Given the description of an element on the screen output the (x, y) to click on. 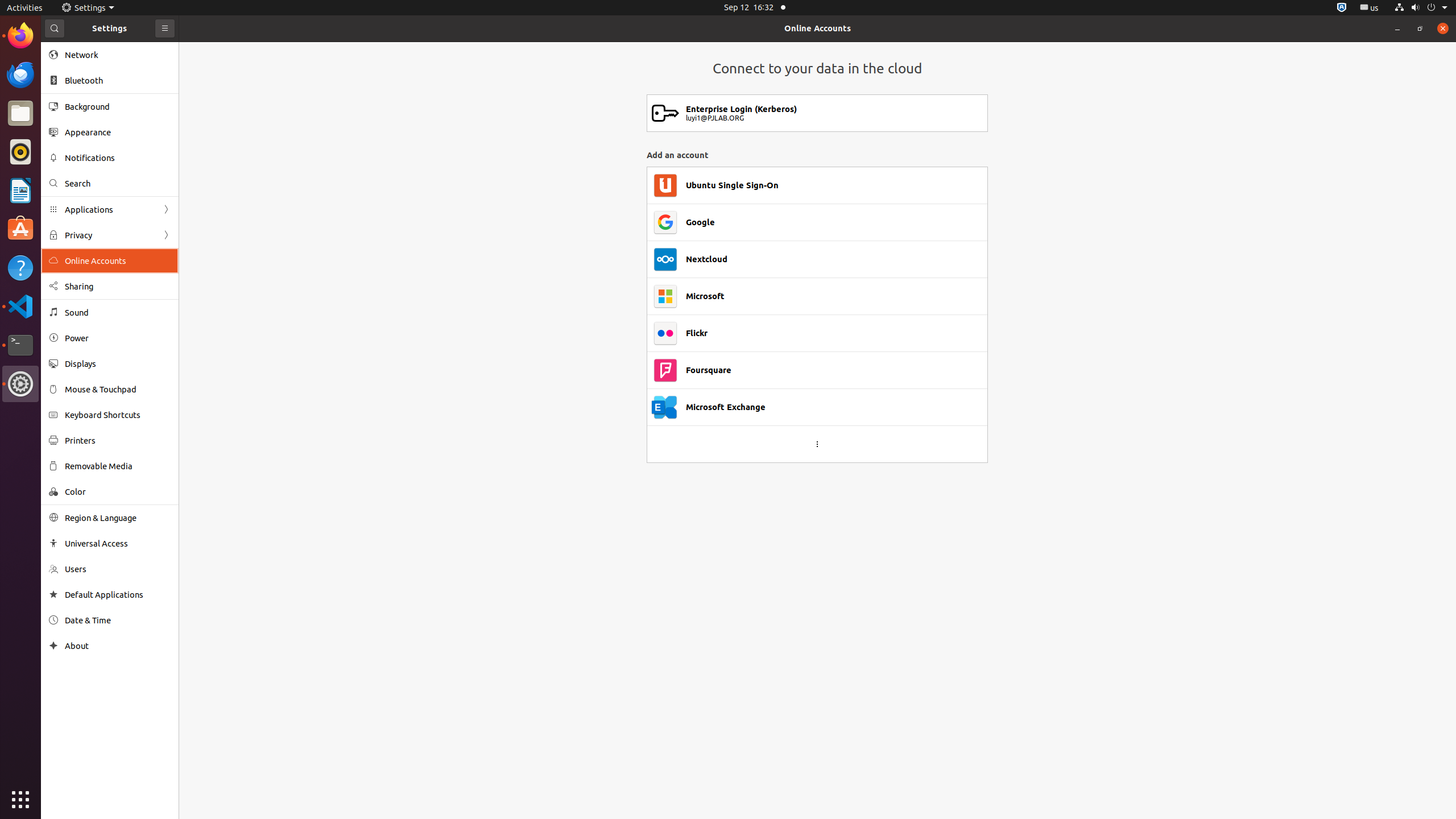
Enterprise Login (Kerberos)
luyi1@PJLAB.ORG Element type: label (835, 113)
Add an account Element type: label (816, 154)
Settings Element type: menu (87, 7)
Online Accounts Element type: label (817, 27)
